Given the description of an element on the screen output the (x, y) to click on. 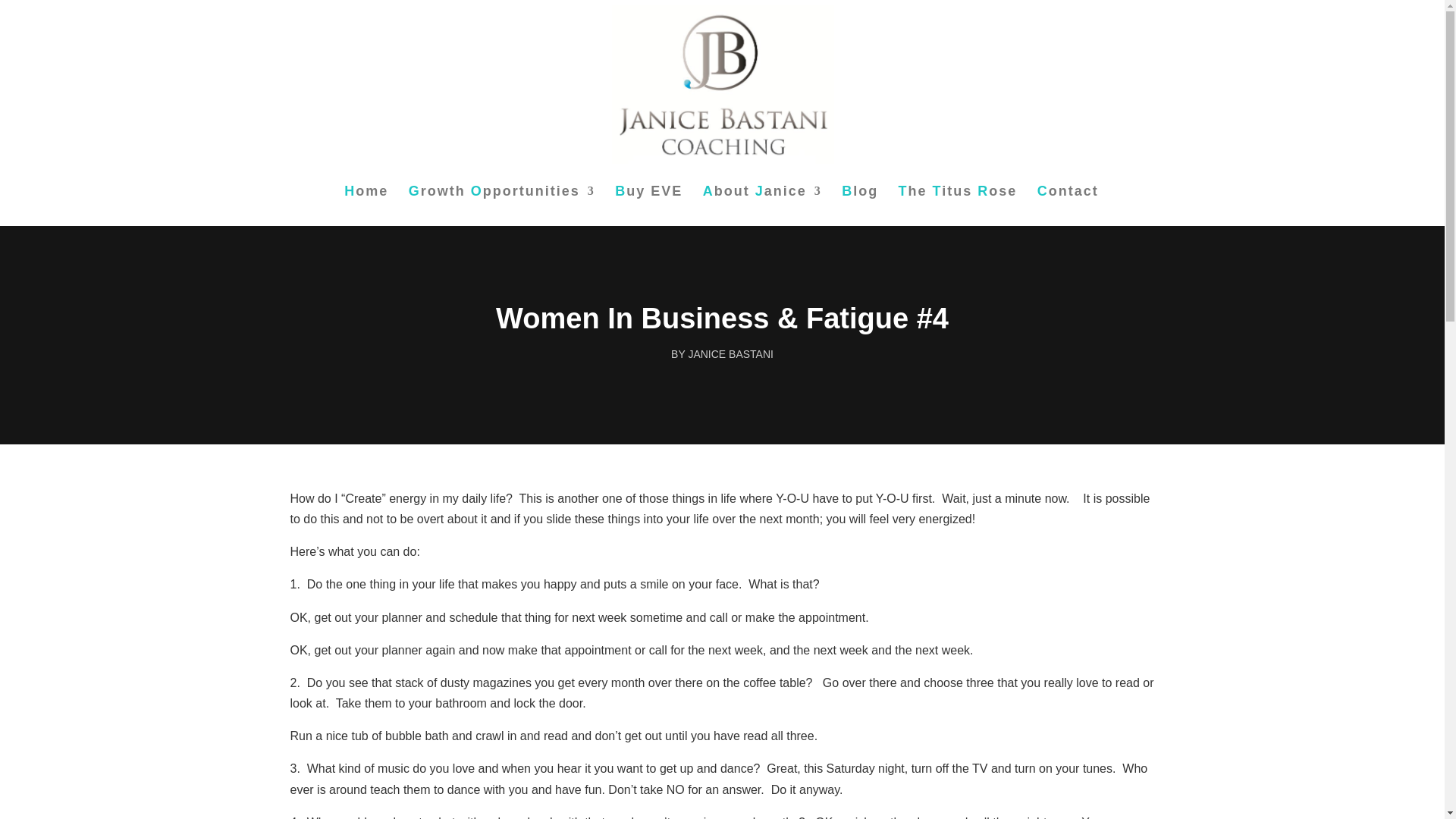
Contact (1067, 205)
Follow on Facebook (658, 765)
Follow on Pinterest (785, 765)
Follow on LinkedIn (743, 765)
JANICE BASTANI (730, 354)
The Titus Rose (957, 205)
About Janice (762, 205)
Home (365, 205)
Buy EVE (648, 205)
Growth Opportunities (502, 205)
by Christian Del Rosario (1018, 618)
Follow on Twitter (700, 765)
Posts by Janice Bastani (730, 354)
Blog (859, 205)
